Given the description of an element on the screen output the (x, y) to click on. 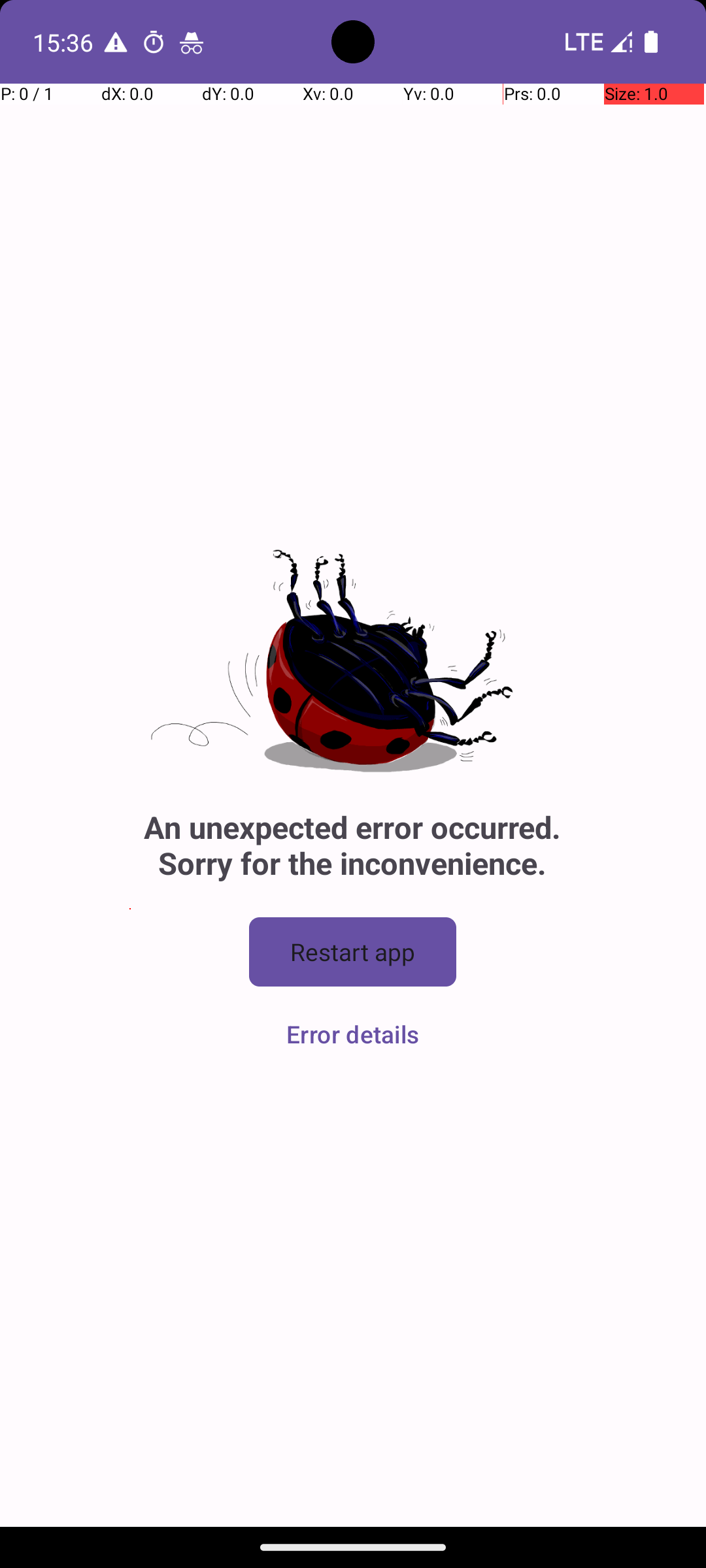
15:36 Element type: android.widget.TextView (64, 41)
